Given the description of an element on the screen output the (x, y) to click on. 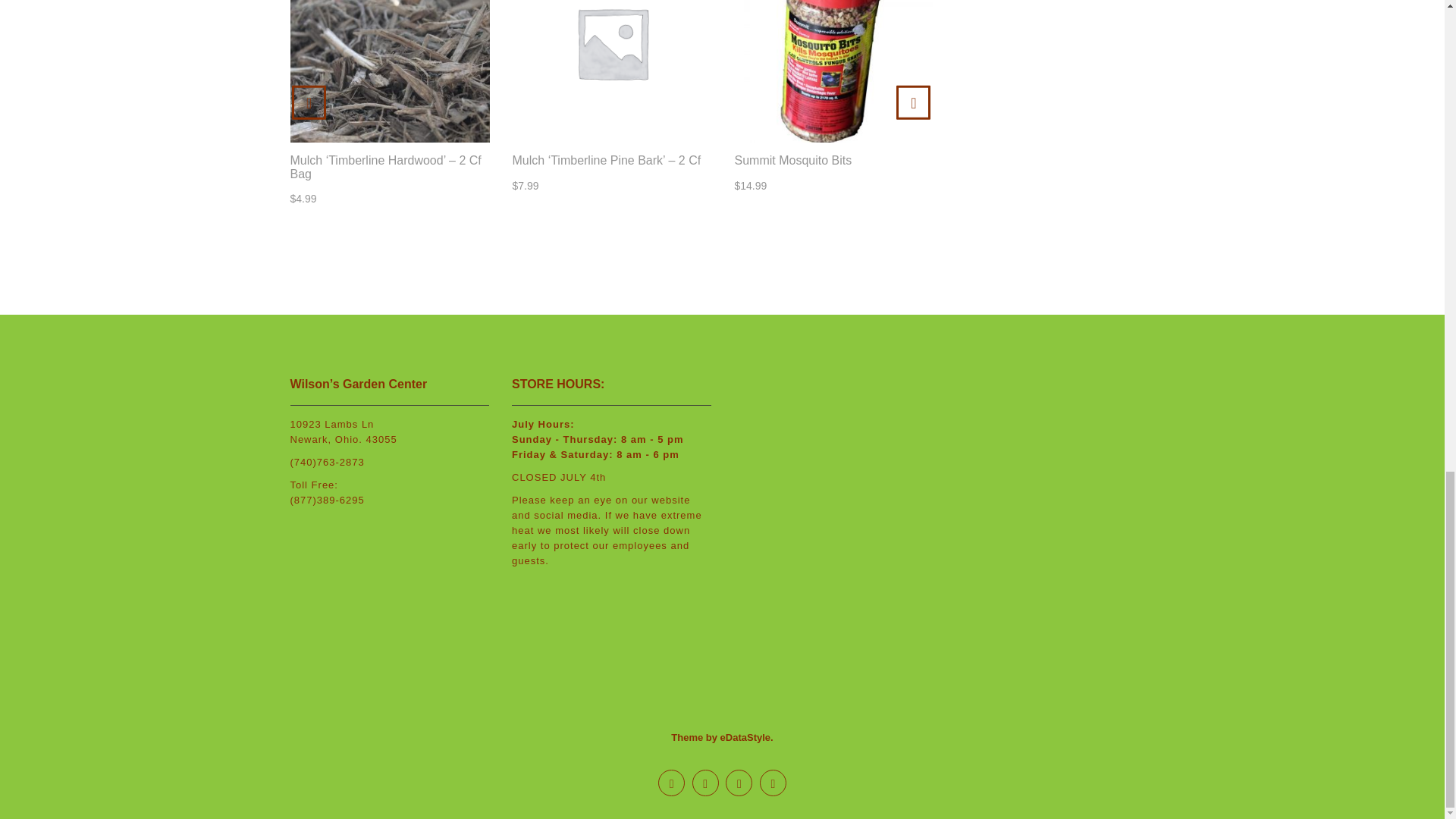
eDataStyle (745, 737)
Summit Mosquito Bits (833, 160)
